Given the description of an element on the screen output the (x, y) to click on. 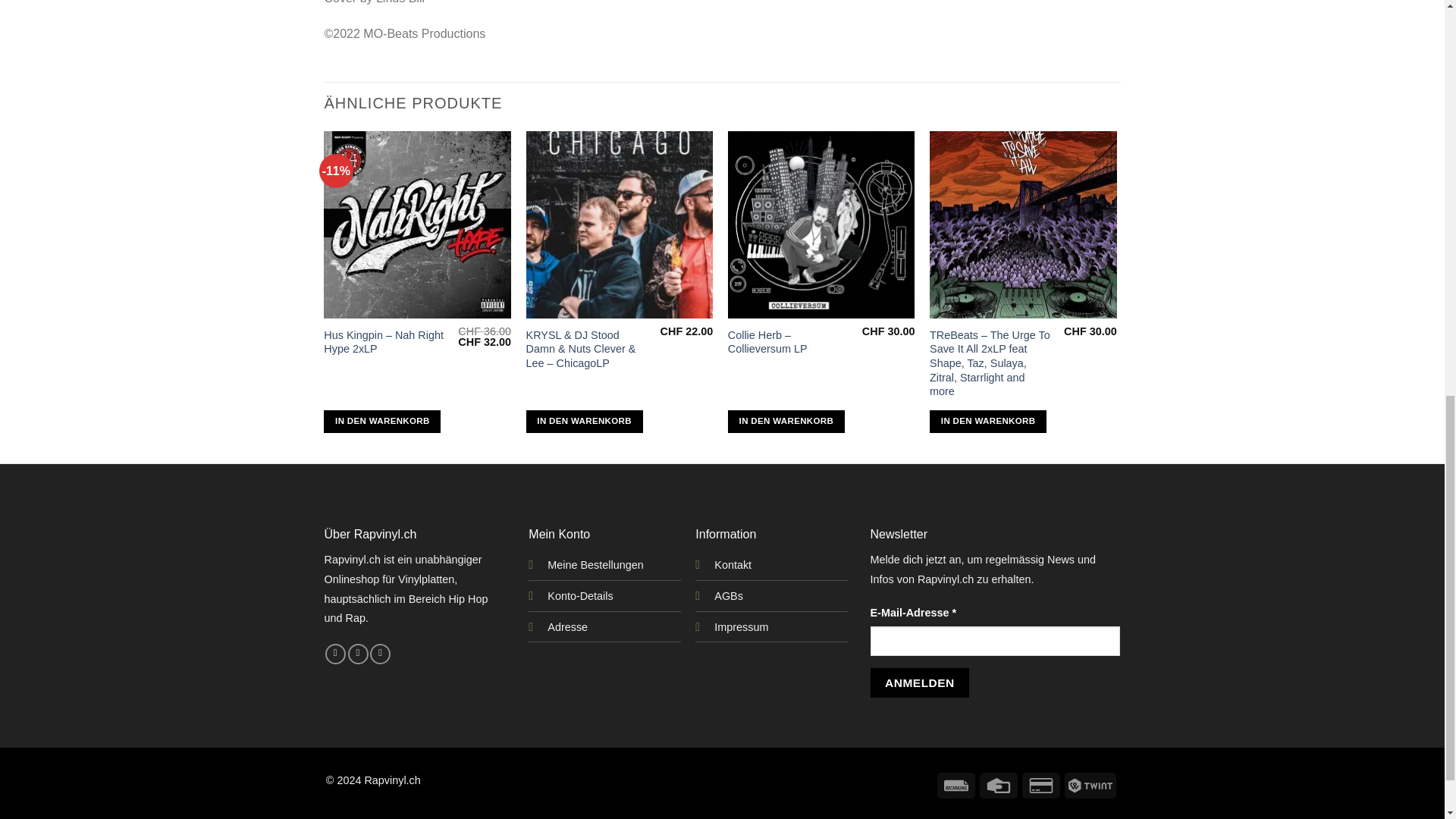
Anmelden (919, 682)
Sende uns eine E-Mail (379, 654)
Auf Facebook folgen (335, 654)
Auf Instagram folgen (357, 654)
